Given the description of an element on the screen output the (x, y) to click on. 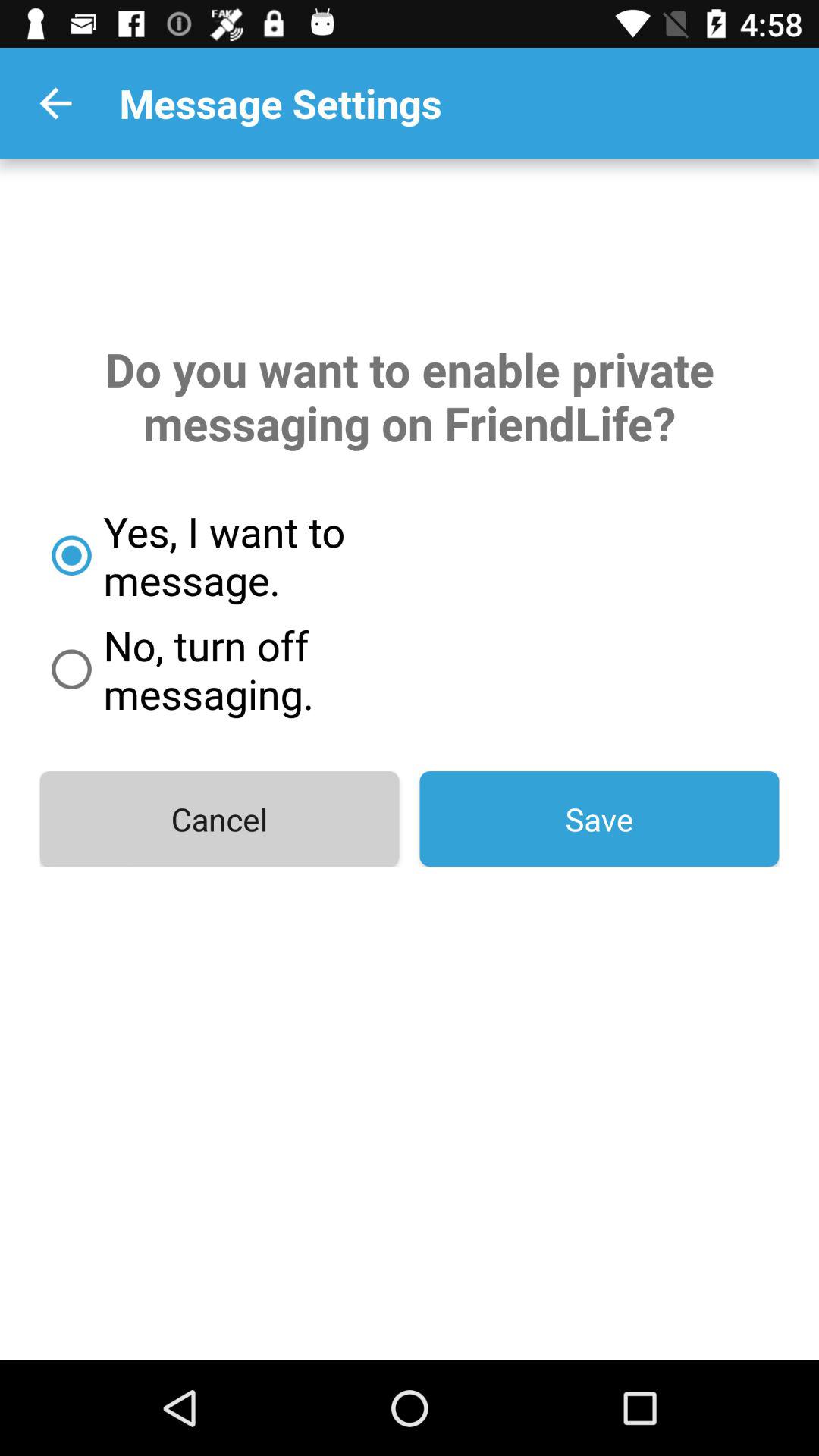
turn off the item below the no turn off icon (219, 818)
